Given the description of an element on the screen output the (x, y) to click on. 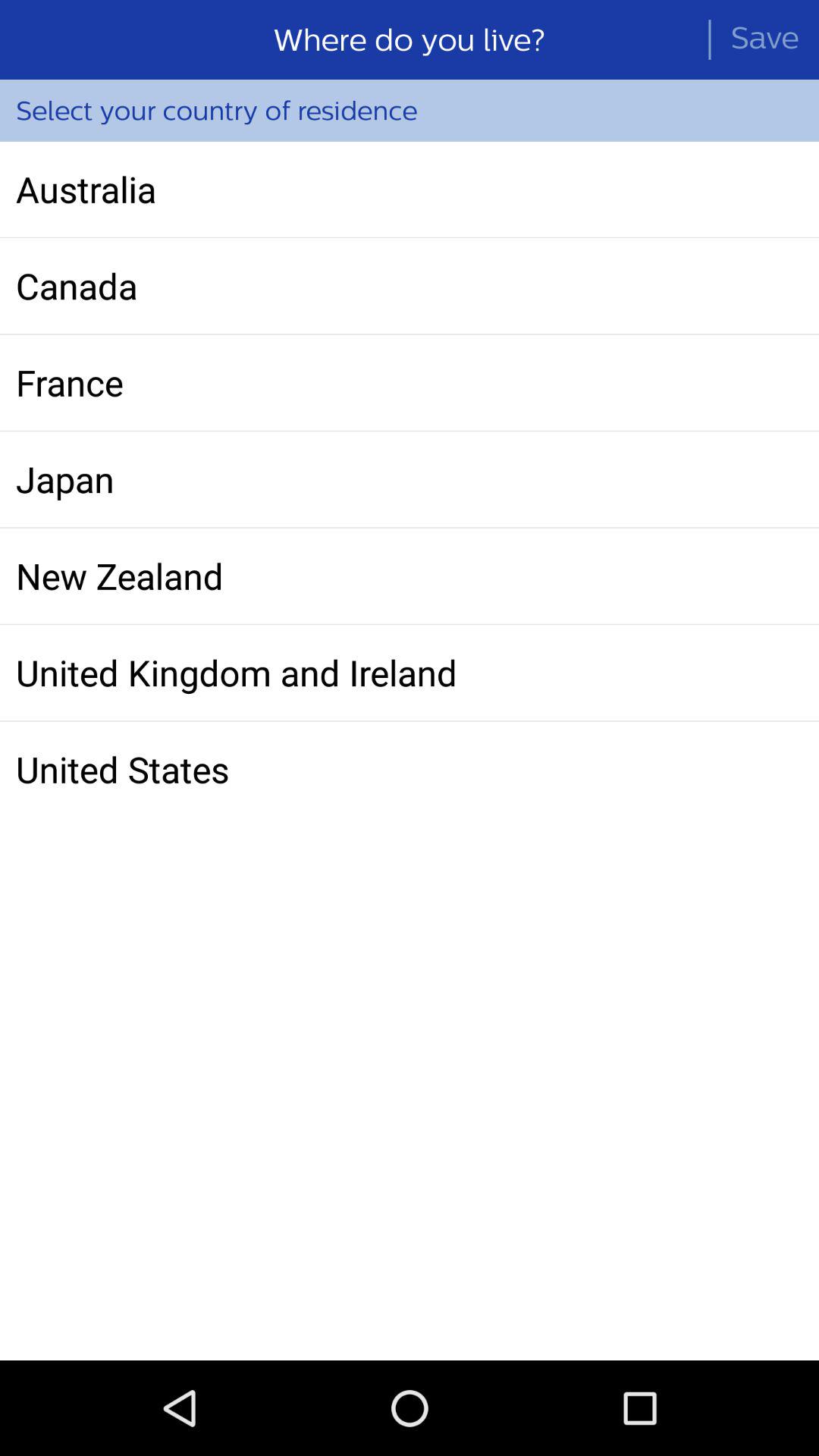
jump to united kingdom and (409, 672)
